Given the description of an element on the screen output the (x, y) to click on. 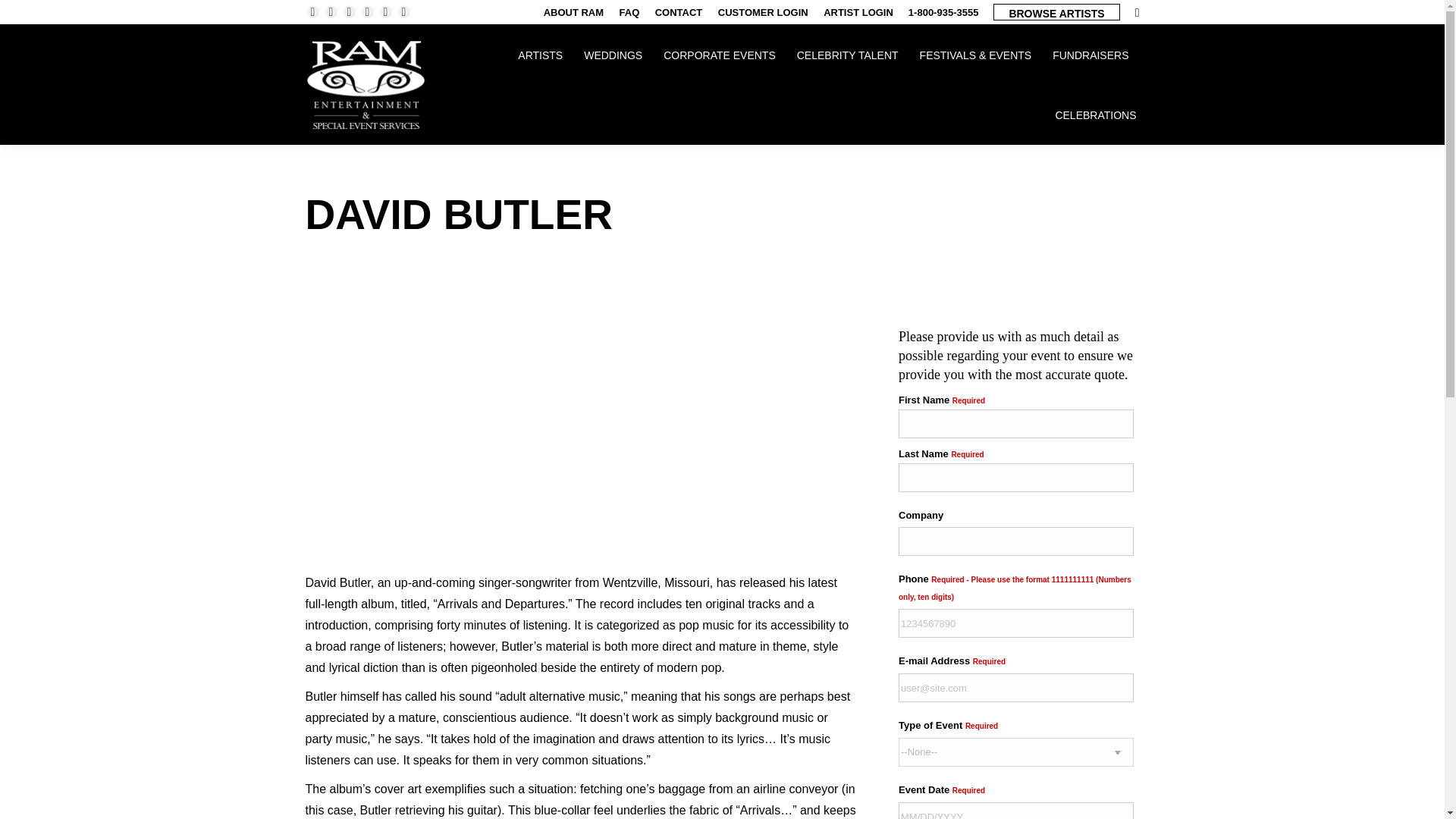
Instagram page opens in new window (366, 11)
WEDDINGS (612, 54)
CONTACT (679, 11)
Pinterest page opens in new window (348, 11)
FAQ (630, 11)
Facebook page opens in new window (312, 11)
YouTube page opens in new window (403, 11)
Instagram page opens in new window (366, 11)
CELEBRATIONS (1094, 114)
X page opens in new window (330, 11)
